Given the description of an element on the screen output the (x, y) to click on. 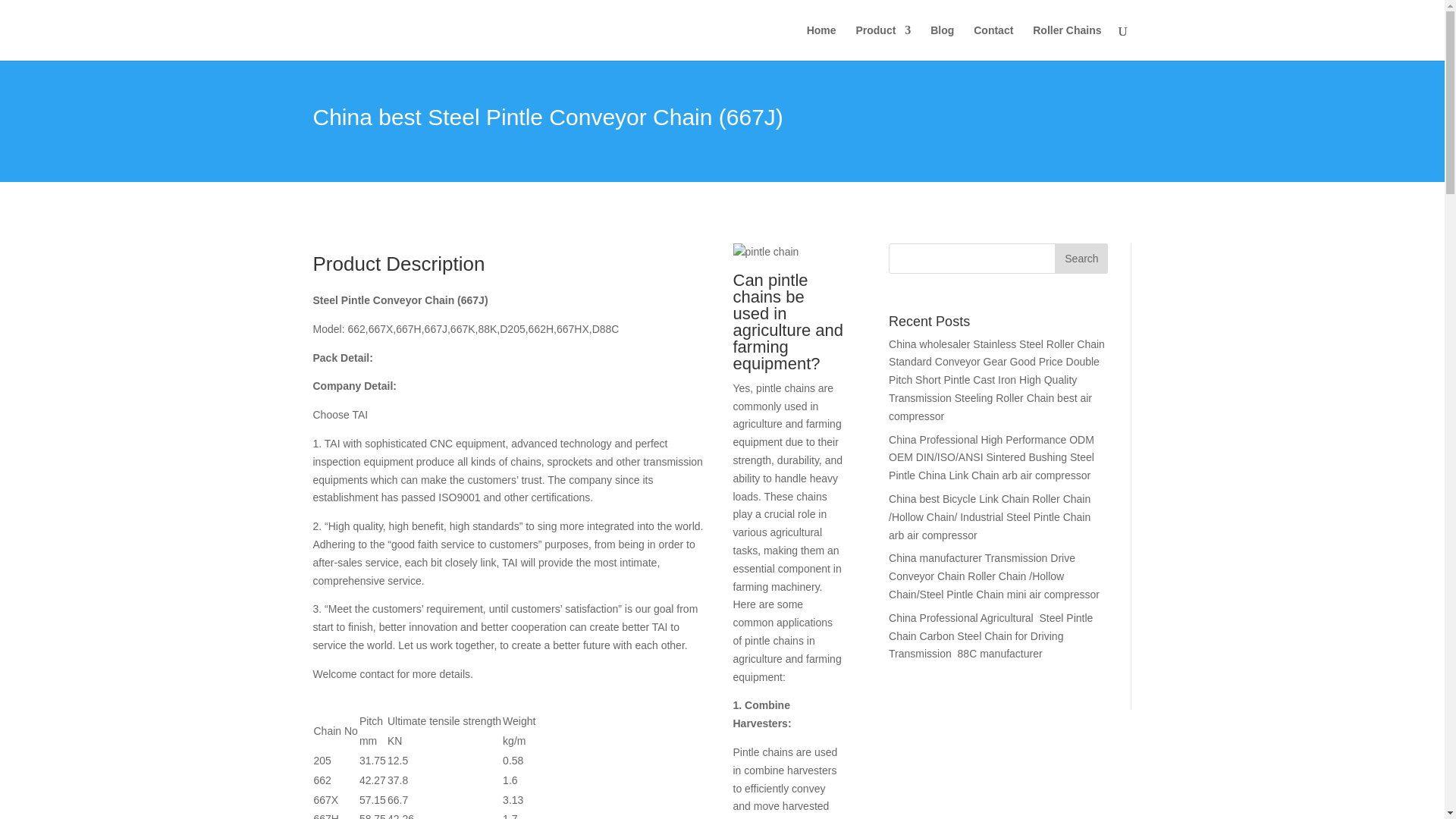
Contact (993, 42)
Home (820, 42)
Roller Chains (1066, 42)
Search (1081, 258)
Product (883, 42)
Search (1081, 258)
Blog (941, 42)
